Given the description of an element on the screen output the (x, y) to click on. 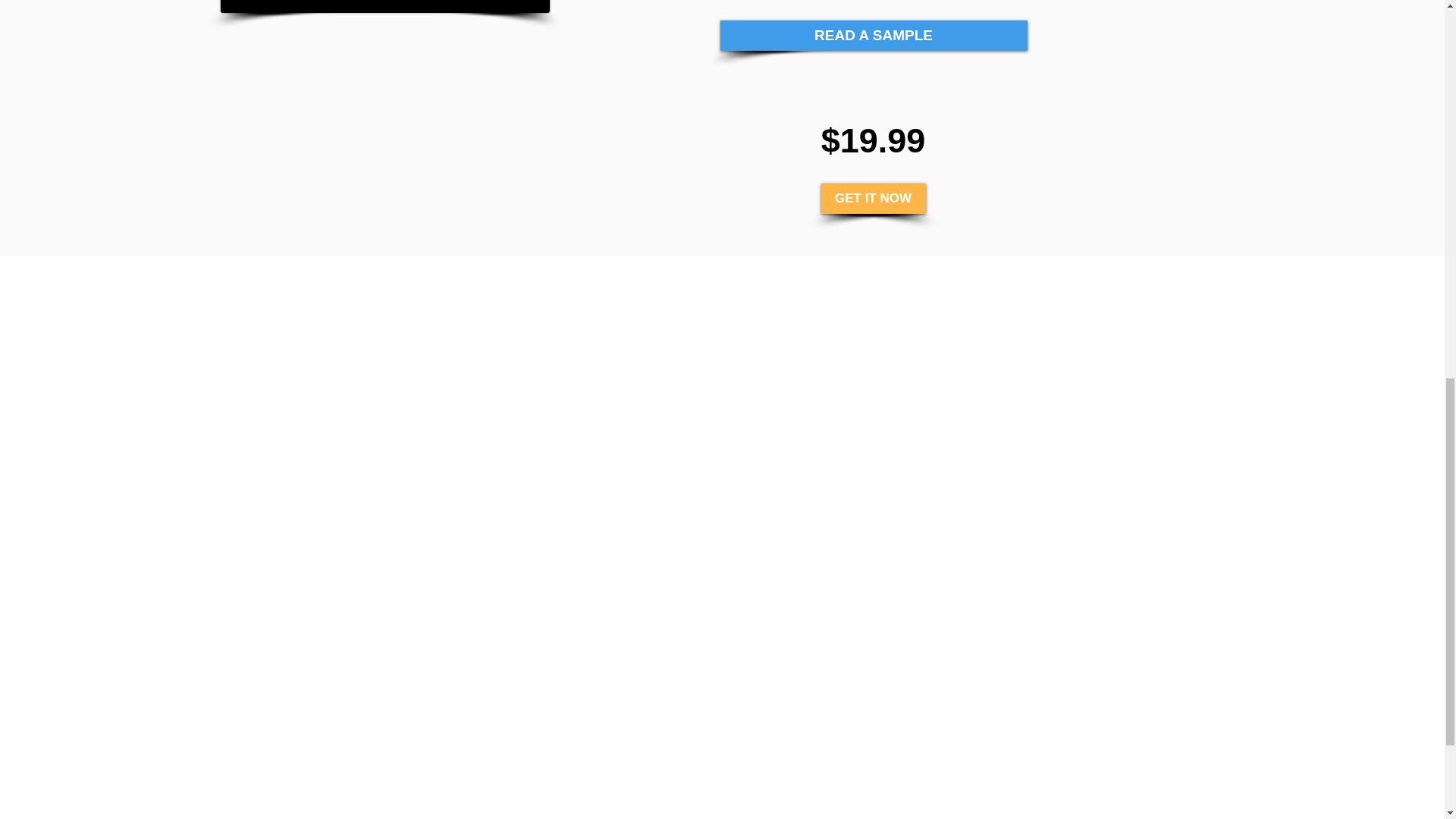
Morgen of Avalon: Dreamspell 1 (383, 6)
